Given the description of an element on the screen output the (x, y) to click on. 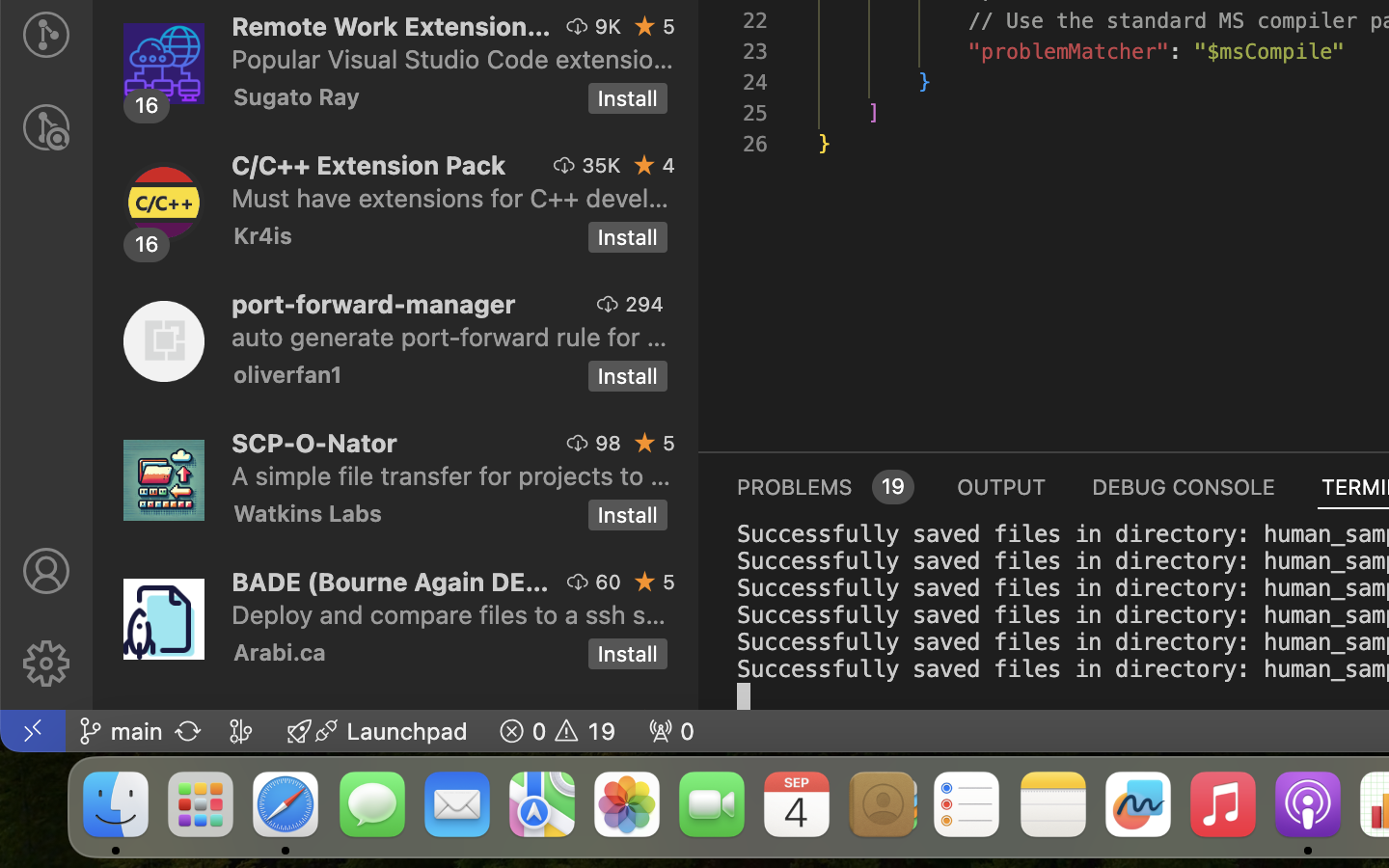
C/C++ Extension Pack Element type: AXStaticText (369, 164)
A simple file transfer for projects to and from servers suporting scp (ssh file transfer). Element type: AXStaticText (451, 475)
35K Element type: AXStaticText (601, 164)
16 Element type: AXStaticText (147, 243)
294 Element type: AXStaticText (644, 303)
